Given the description of an element on the screen output the (x, y) to click on. 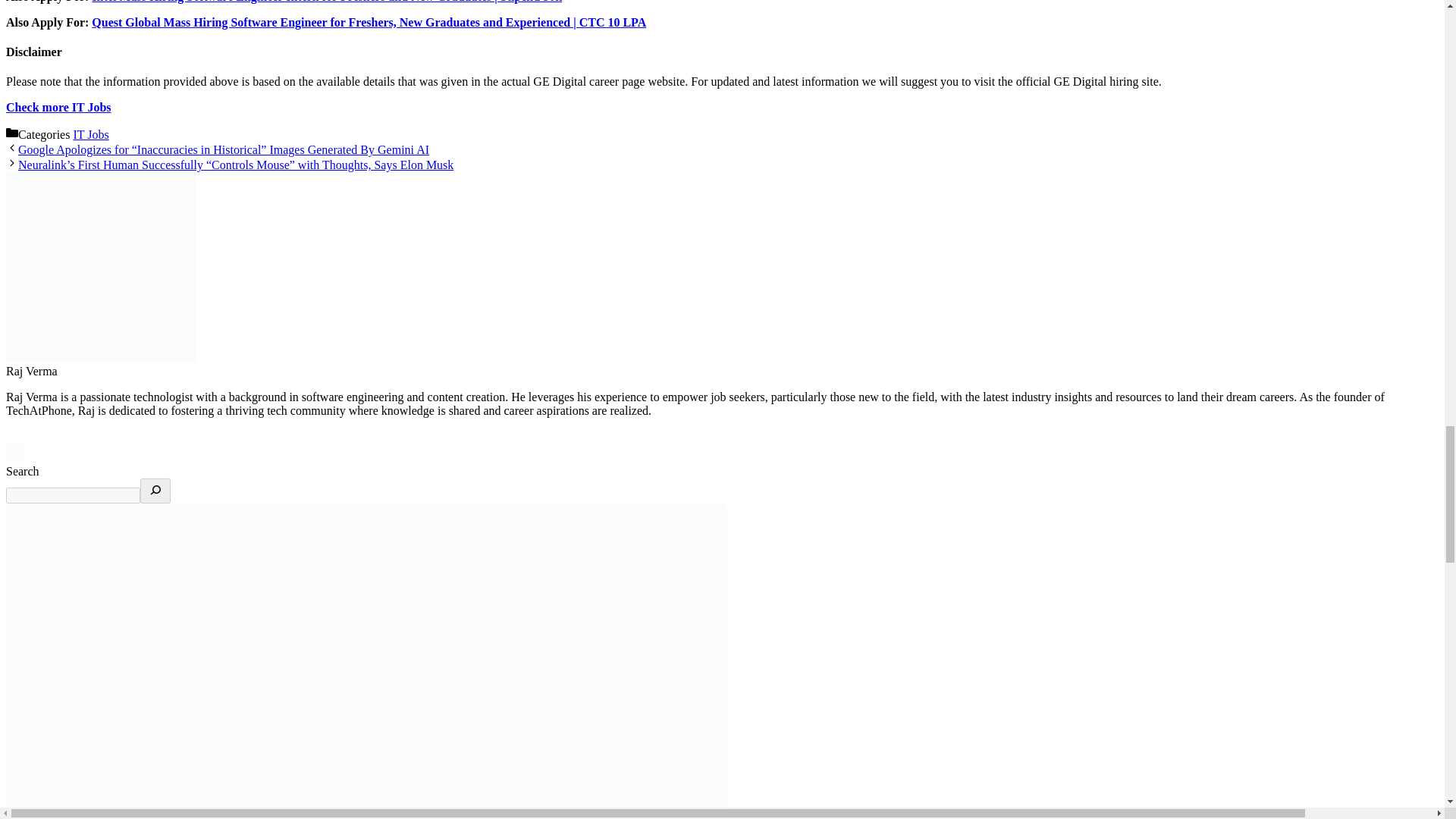
IT Jobs (89, 133)
Check more IT Jobs (58, 106)
